Given the description of an element on the screen output the (x, y) to click on. 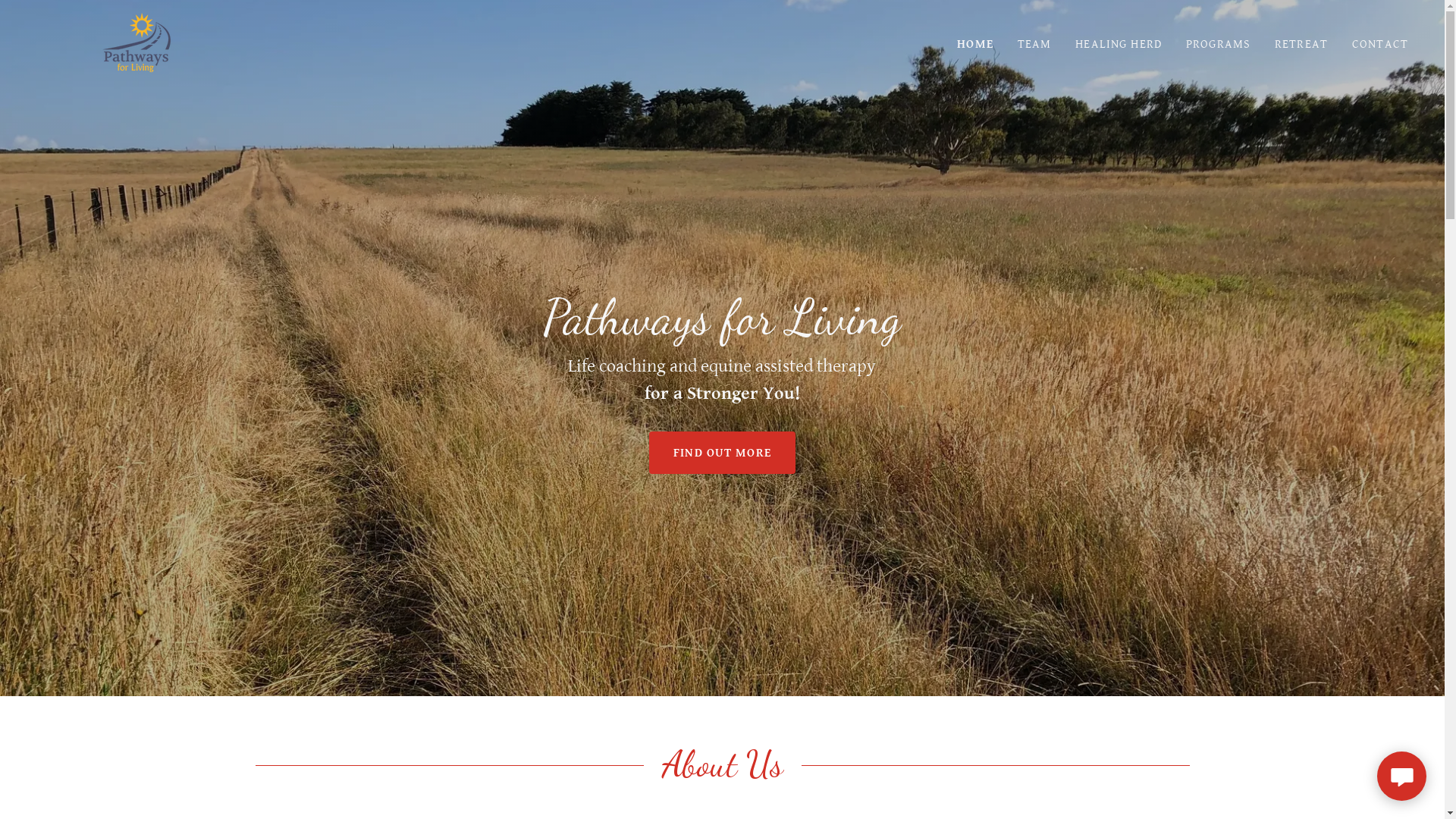
HOME Element type: text (975, 43)
RETREAT Element type: text (1301, 43)
FIND OUT MORE Element type: text (722, 452)
HEALING HERD Element type: text (1118, 43)
CONTACT Element type: text (1379, 43)
PROGRAMS Element type: text (1218, 43)
TEAM Element type: text (1034, 43)
Pathways for Living Ltd Element type: hover (136, 41)
